Given the description of an element on the screen output the (x, y) to click on. 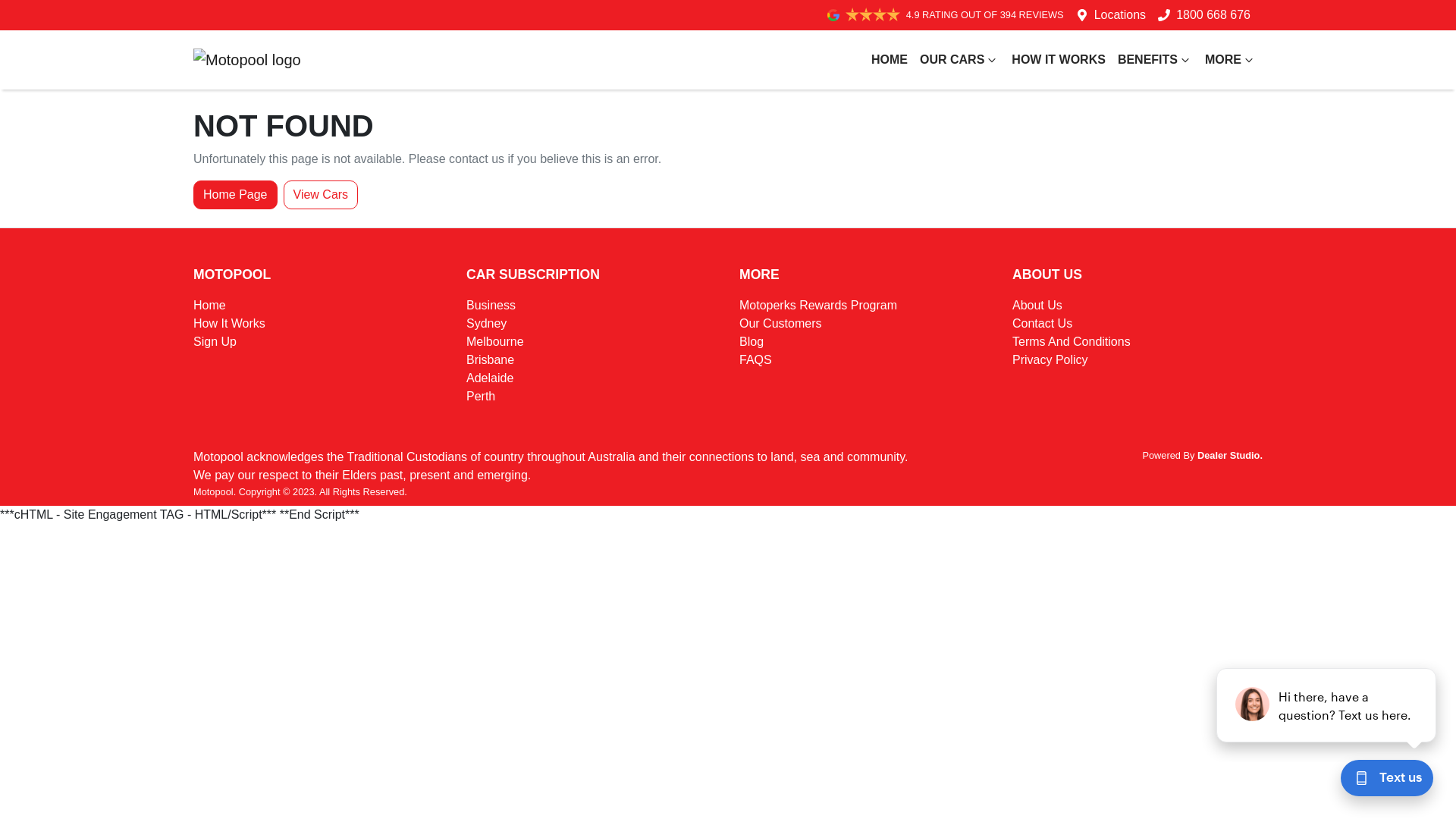
About Us Element type: text (1037, 304)
Brisbane Element type: text (490, 359)
Blog Element type: text (751, 341)
Business Element type: text (490, 304)
Home Element type: text (209, 304)
Privacy Policy Element type: text (1050, 359)
HOME Element type: text (889, 59)
OUR CARS Element type: text (959, 59)
MORE Element type: text (1230, 59)
Perth Element type: text (480, 395)
Contact Us Element type: text (1042, 322)
How It Works Element type: text (229, 322)
Dealer Studio. Element type: text (1229, 455)
Adelaide Element type: text (489, 377)
Sydney Element type: text (486, 322)
View Cars Element type: text (320, 194)
BENEFITS Element type: text (1154, 59)
Our Customers Element type: text (780, 322)
HOW IT WORKS Element type: text (1058, 59)
Locations Element type: text (1120, 14)
1800 668 676 Element type: text (1213, 14)
Home Page Element type: text (235, 194)
Terms And Conditions Element type: text (1071, 341)
Melbourne Element type: text (495, 341)
Motoperks Rewards Program Element type: text (818, 304)
Sign Up Element type: text (214, 341)
FAQS Element type: text (755, 359)
